Given the description of an element on the screen output the (x, y) to click on. 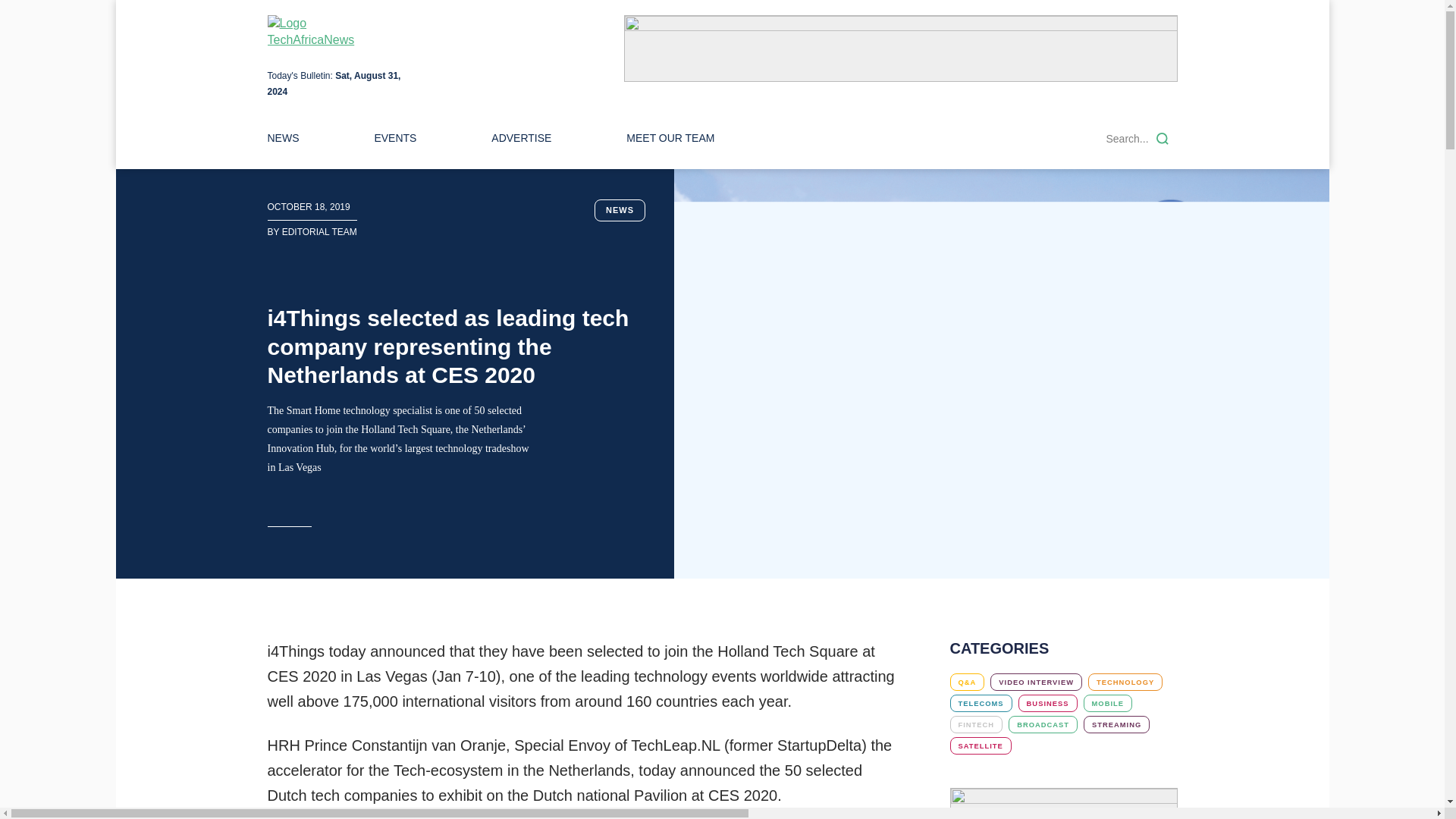
SATELLITE (979, 745)
MEET OUR TEAM (670, 138)
Search (1162, 138)
VIDEO INTERVIEW (1035, 682)
Search (1162, 138)
BROADCAST (1043, 724)
MEET OUR TEAM (670, 138)
TECHNOLOGY (1124, 682)
MOBILE (1107, 702)
FINTECH (976, 724)
